Given the description of an element on the screen output the (x, y) to click on. 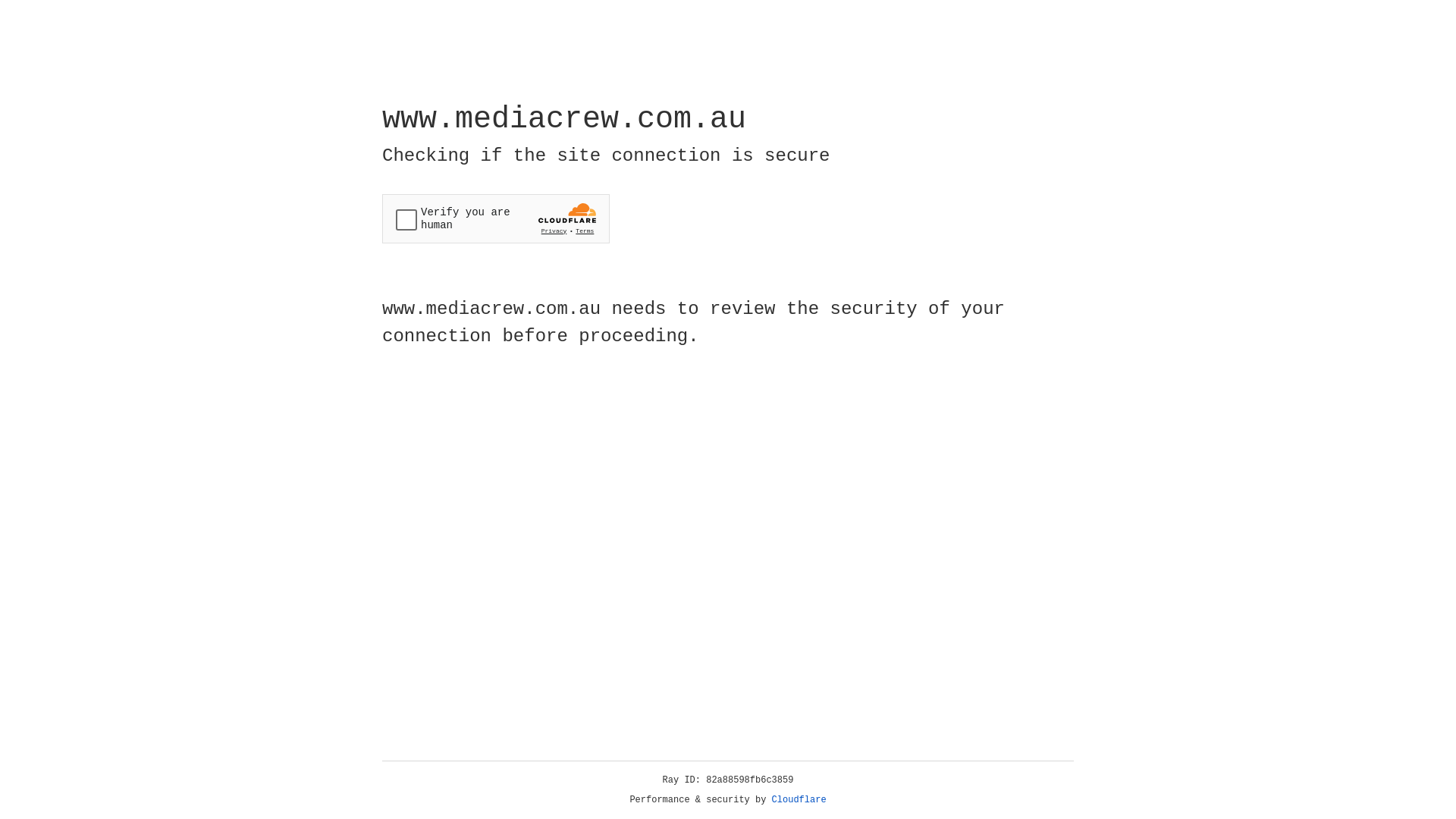
Cloudflare Element type: text (798, 799)
Widget containing a Cloudflare security challenge Element type: hover (495, 218)
